Given the description of an element on the screen output the (x, y) to click on. 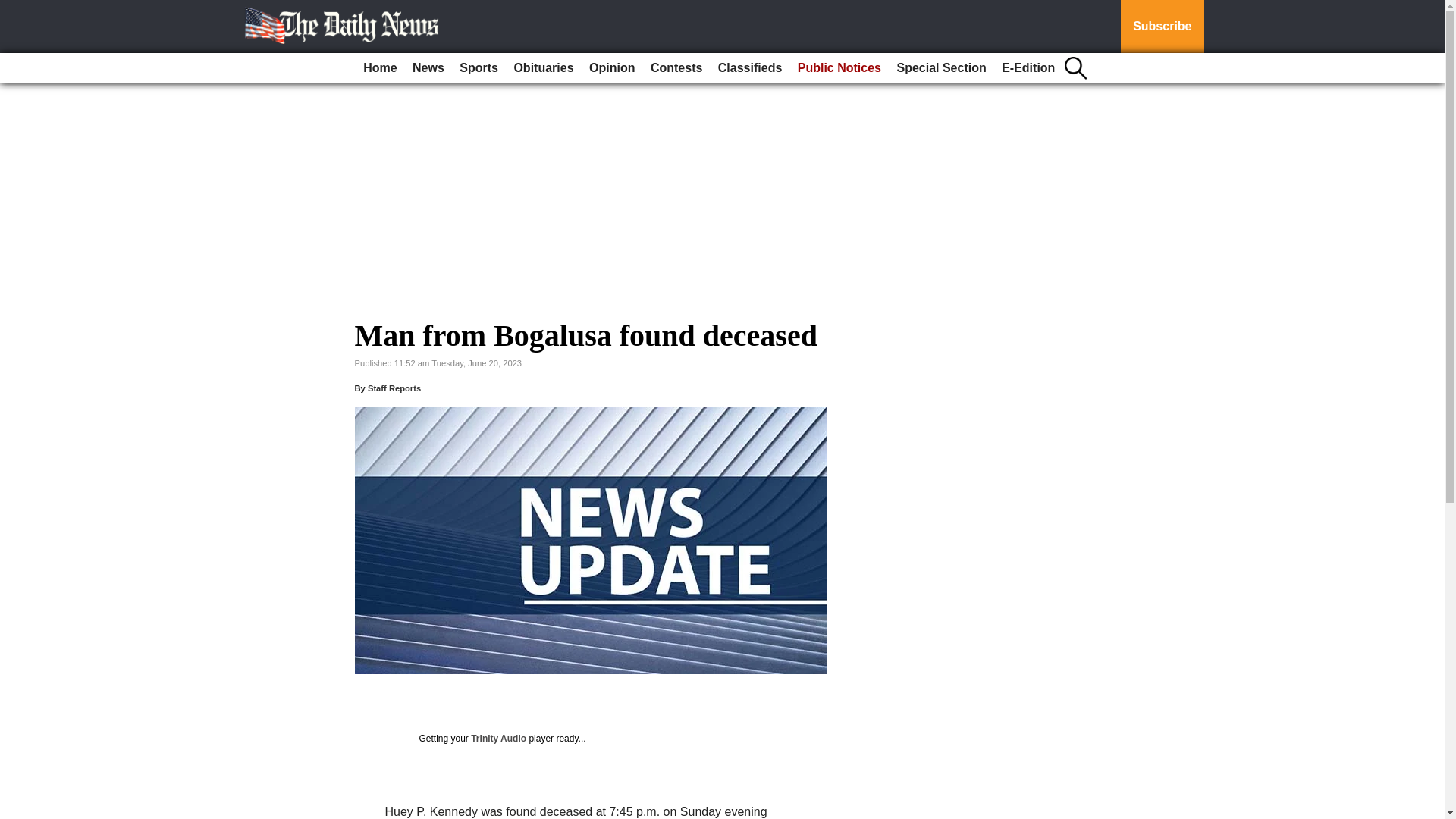
E-Edition (1028, 68)
Go (13, 9)
Sports (477, 68)
Trinity Audio (497, 738)
Obituaries (542, 68)
Opinion (611, 68)
Classifieds (749, 68)
Special Section (940, 68)
Public Notices (839, 68)
Staff Reports (394, 388)
